Given the description of an element on the screen output the (x, y) to click on. 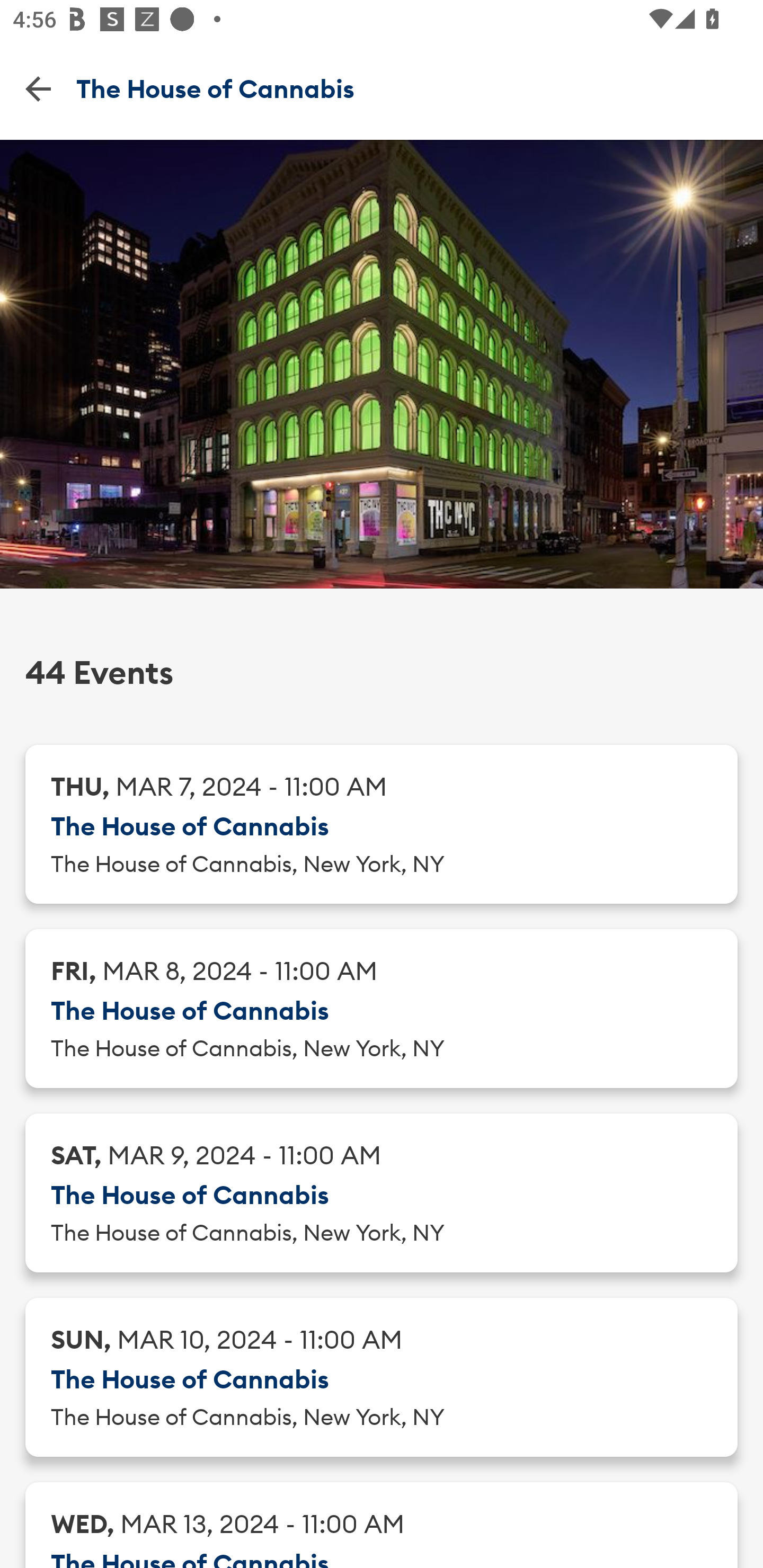
Back (38, 88)
